Given the description of an element on the screen output the (x, y) to click on. 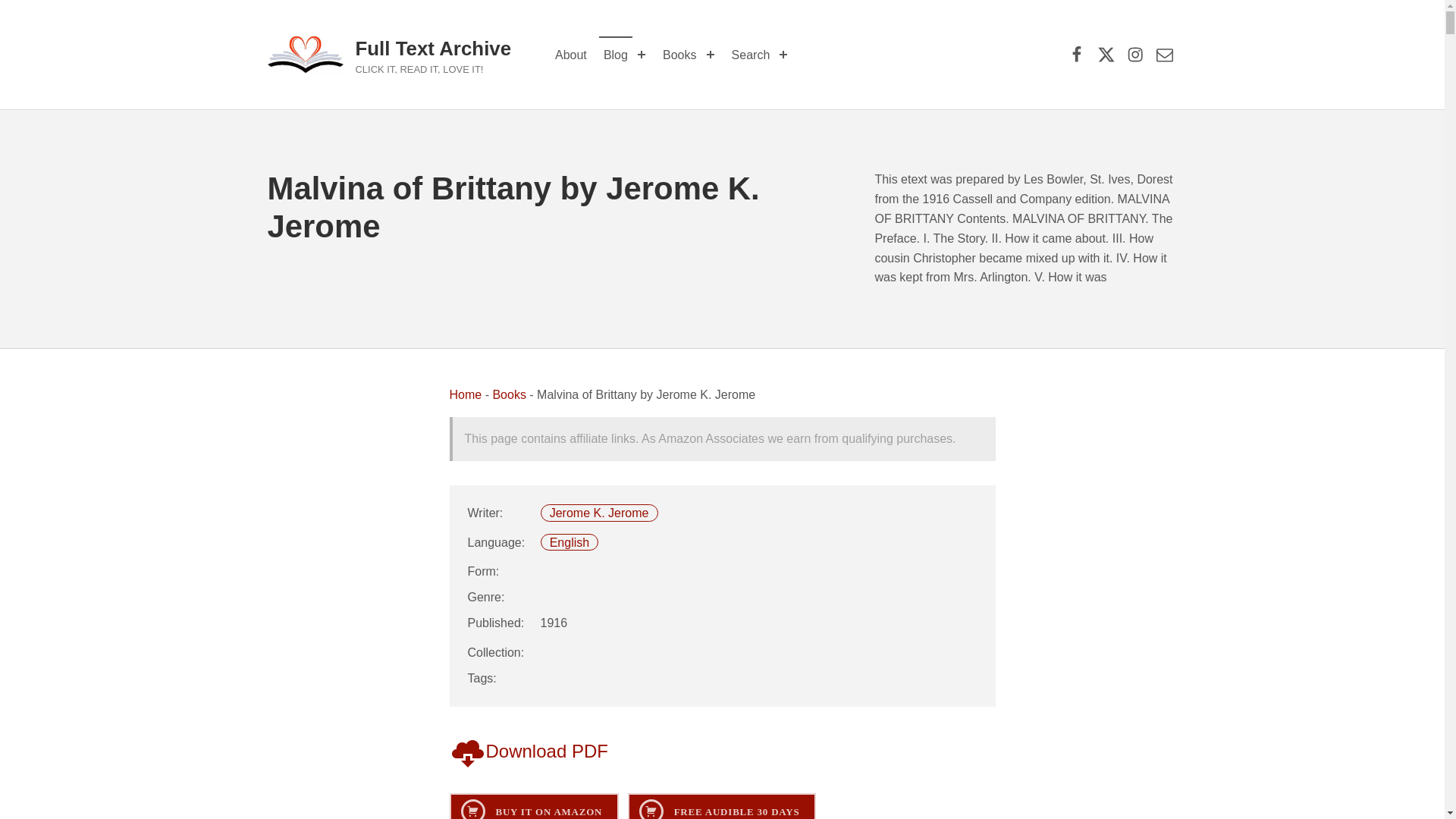
English (569, 542)
Home (464, 394)
Blog (614, 54)
Download Malvina of Brittany by Jerome K. Jerome PDF file (527, 751)
Full Text Archive (433, 47)
Books (508, 394)
Jerome K. Jerome (599, 512)
Download PDF (527, 751)
Books (679, 54)
About (570, 54)
FREE AUDIBLE 30 DAYS (721, 806)
BUY IT ON AMAZON (532, 806)
Search (750, 54)
